Given the description of an element on the screen output the (x, y) to click on. 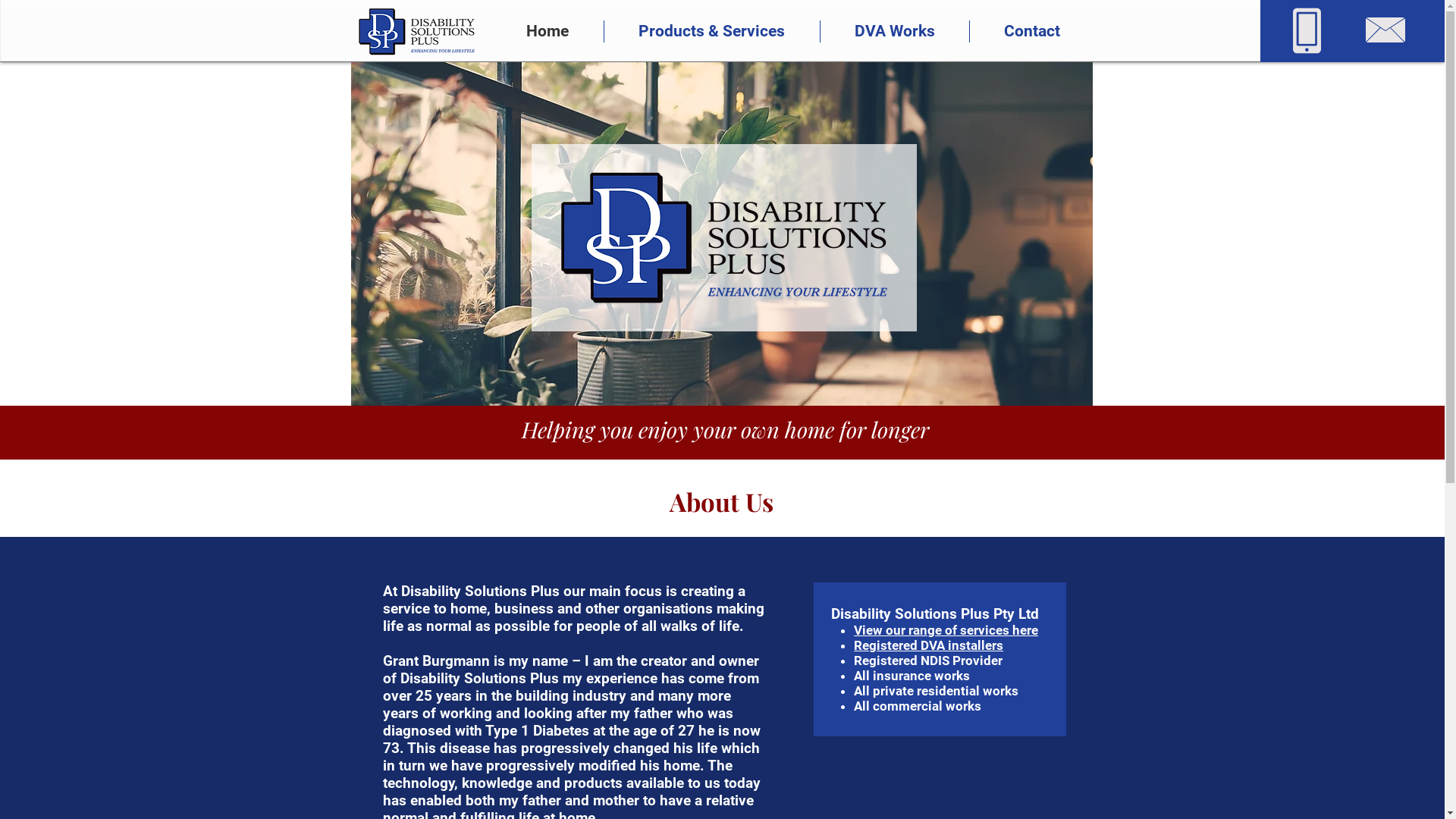
Contact Element type: text (1031, 31)
Registered DVA installers Element type: text (928, 644)
Home Element type: text (546, 31)
DVA Works Element type: text (894, 31)
View o Element type: text (873, 629)
Products & Services Element type: text (711, 31)
ur range of services here Element type: text (965, 629)
